Given the description of an element on the screen output the (x, y) to click on. 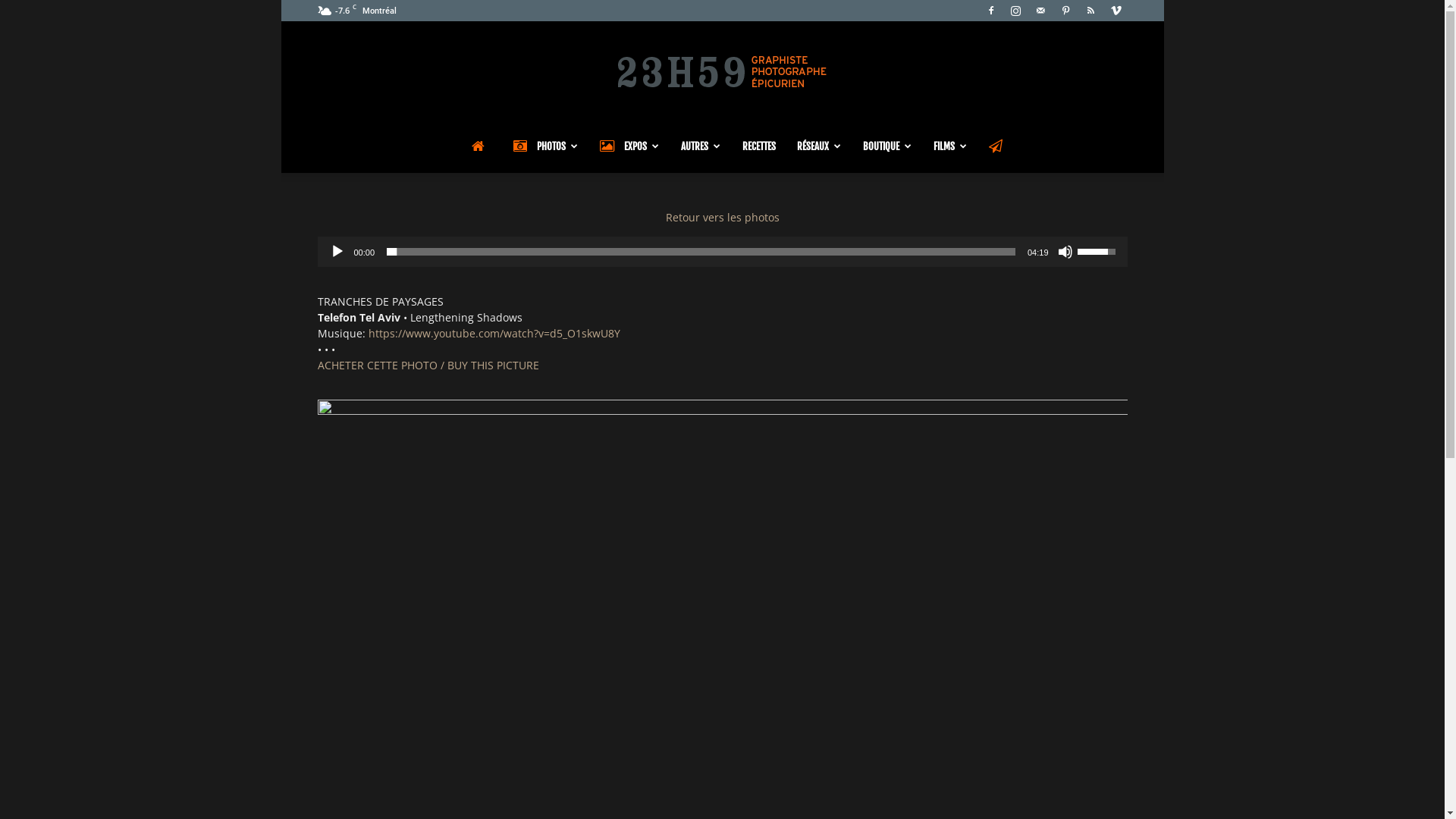
ACHETER CETTE PHOTO / BUY THIS PICTURE Element type: text (427, 364)
Pinterest Element type: hover (1065, 10)
Facebook Element type: hover (990, 10)
Muet Element type: hover (1064, 251)
RSS Element type: hover (1090, 10)
EXPOS Element type: text (628, 145)
RECETTES Element type: text (758, 145)
BOUTIQUE Element type: text (887, 145)
AUTRES Element type: text (700, 145)
Mail Element type: hover (1040, 10)
Vimeo Element type: hover (1115, 10)
PHOTOS Element type: text (545, 145)
https://www.youtube.com/watch?v=d5_O1skwU8Y Element type: text (494, 333)
Lecture Element type: hover (336, 251)
Retour vers les photos Element type: text (722, 217)
23h59 Element type: text (721, 71)
Instagram Element type: hover (1015, 10)
FILMS Element type: text (949, 145)
